Given the description of an element on the screen output the (x, y) to click on. 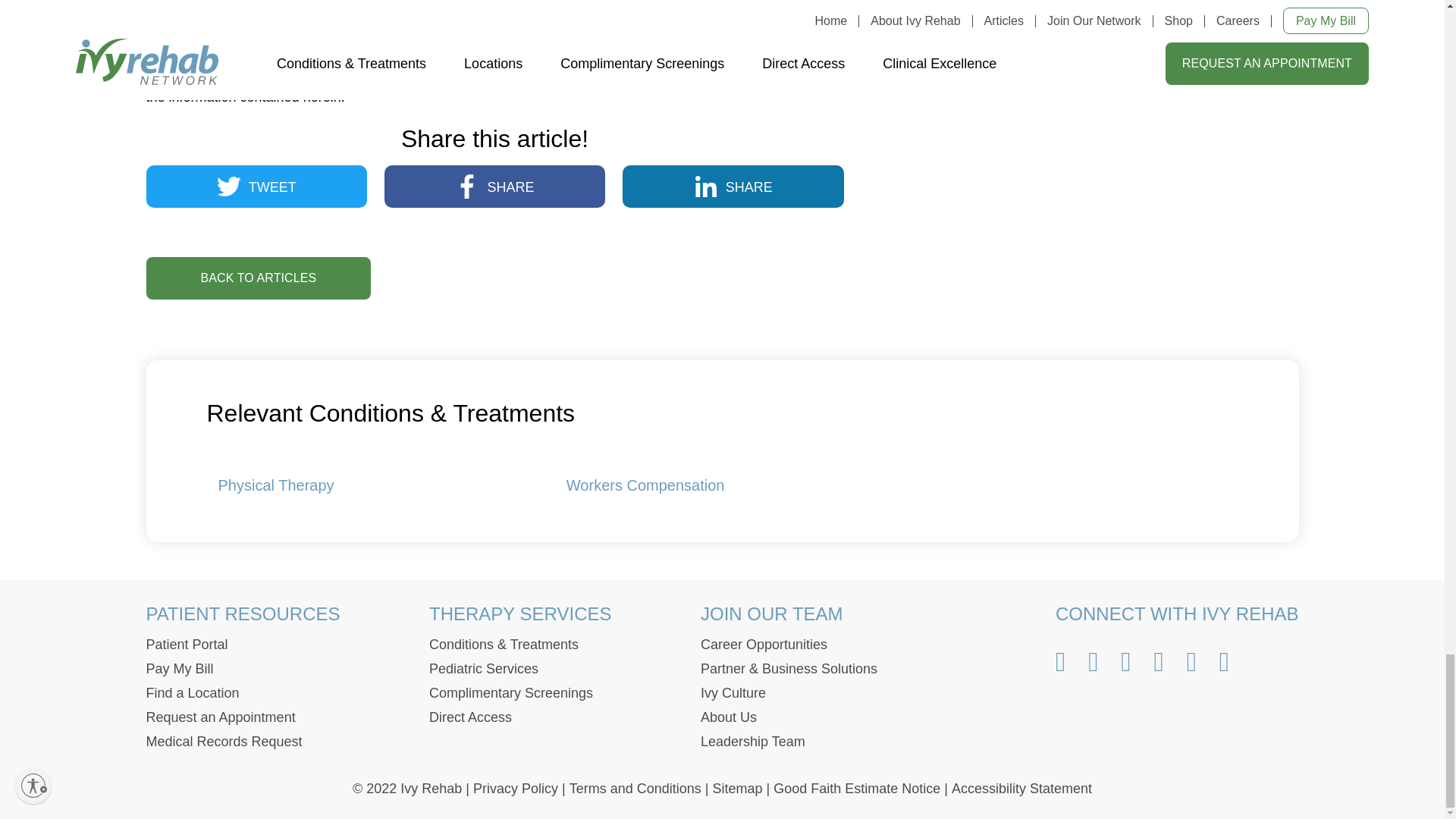
Medical Records Request (223, 741)
Patient Portal (186, 644)
Workers Compensation (645, 485)
LINKEDIN SHARE (733, 186)
LINKEDIN (705, 186)
Pay My Bill (178, 668)
FACEBOOK SHARE (494, 186)
BACK TO ARTICLES (258, 278)
TWITTER TWEET (255, 186)
Find a Location (191, 693)
